Given the description of an element on the screen output the (x, y) to click on. 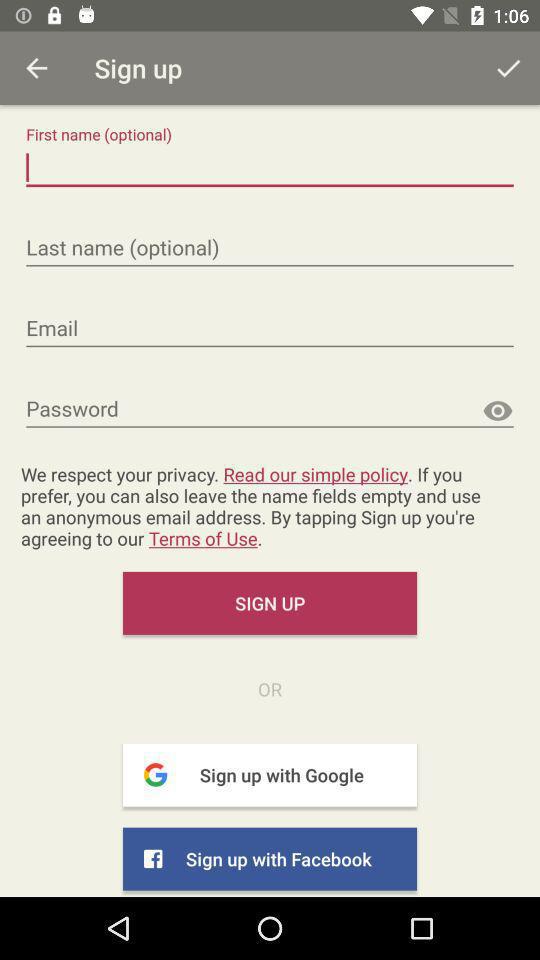
enter last name (270, 248)
